Given the description of an element on the screen output the (x, y) to click on. 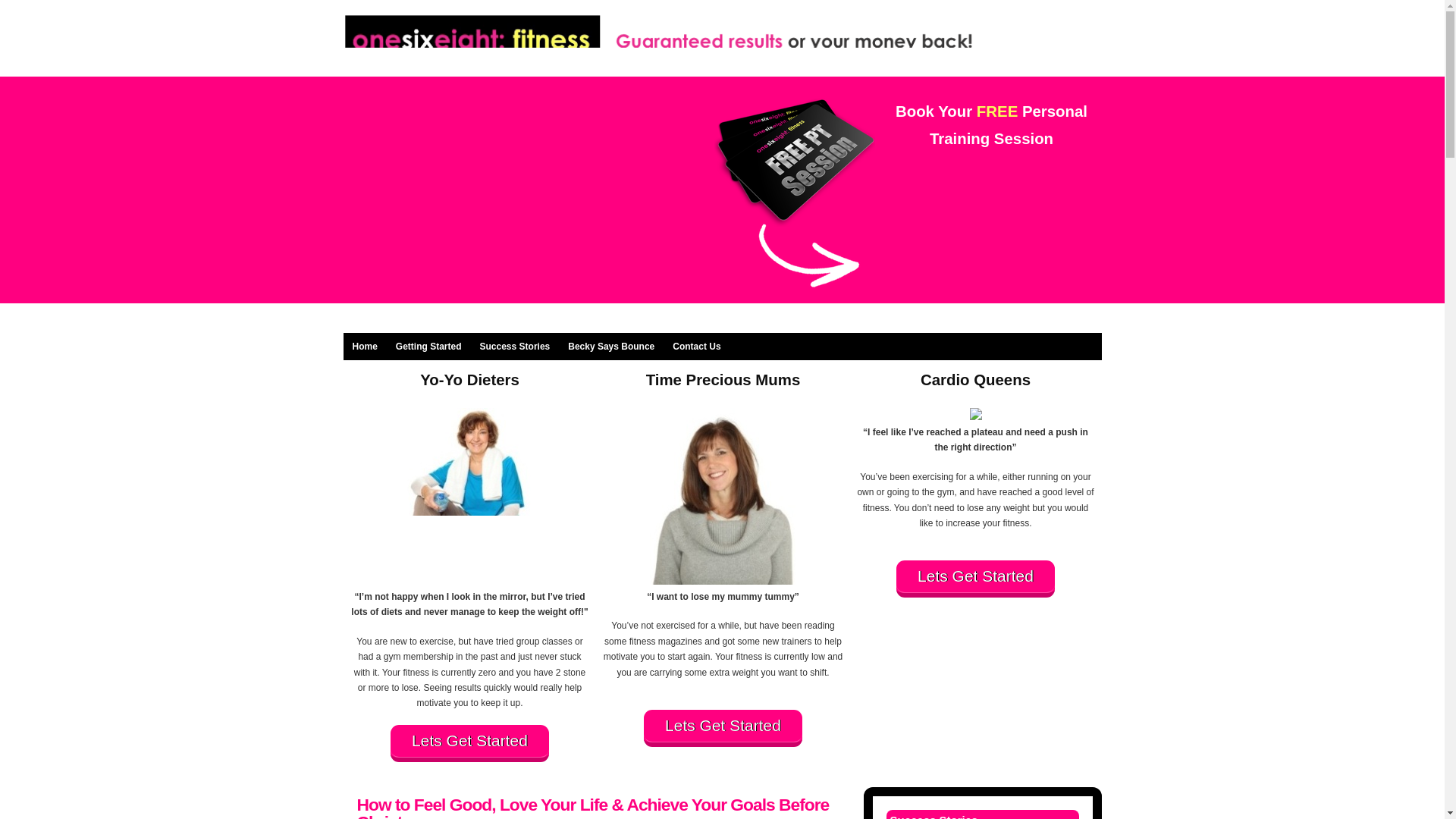
Home (363, 346)
Success Stories (514, 346)
Getting Started (428, 346)
Lets Get Started (469, 743)
Lets Get Started (722, 728)
Lets Get Started (975, 578)
Becky Says Bounce (611, 346)
Contact Us (696, 346)
